Given the description of an element on the screen output the (x, y) to click on. 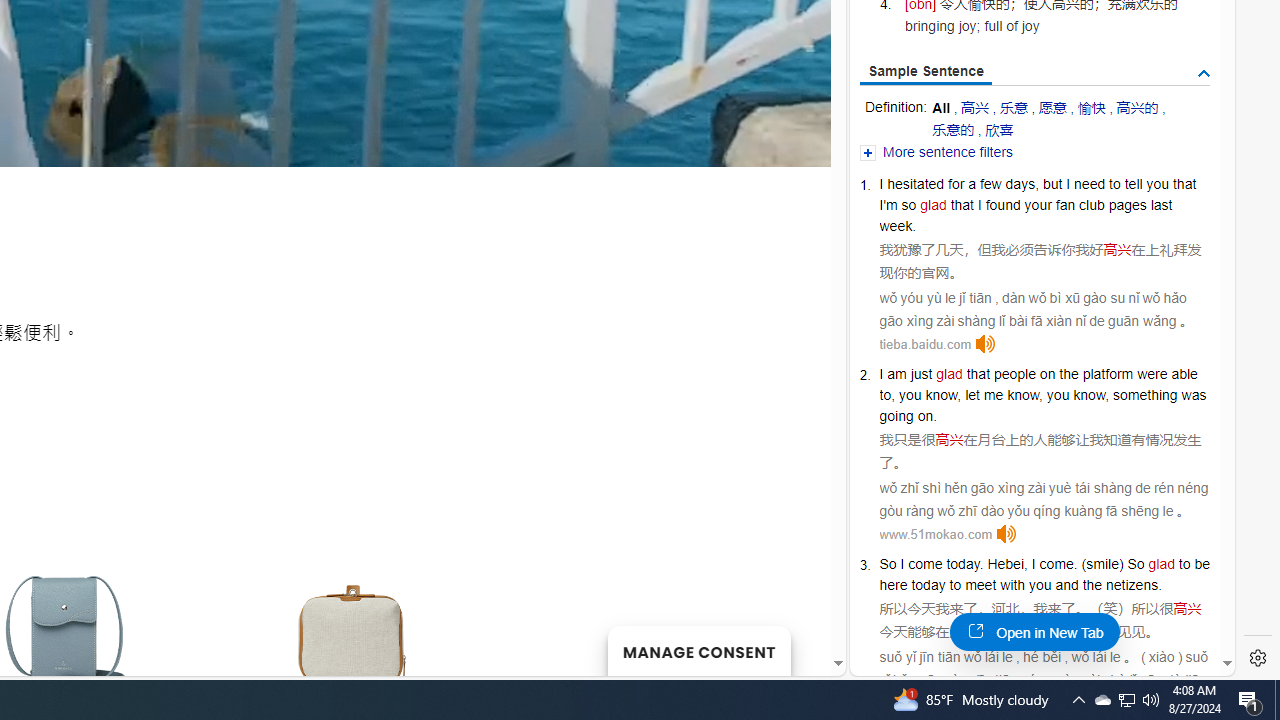
was (1194, 395)
but (1051, 183)
something (1145, 395)
just (921, 373)
tieba.baidu.com (925, 344)
with (1012, 584)
